Given the description of an element on the screen output the (x, y) to click on. 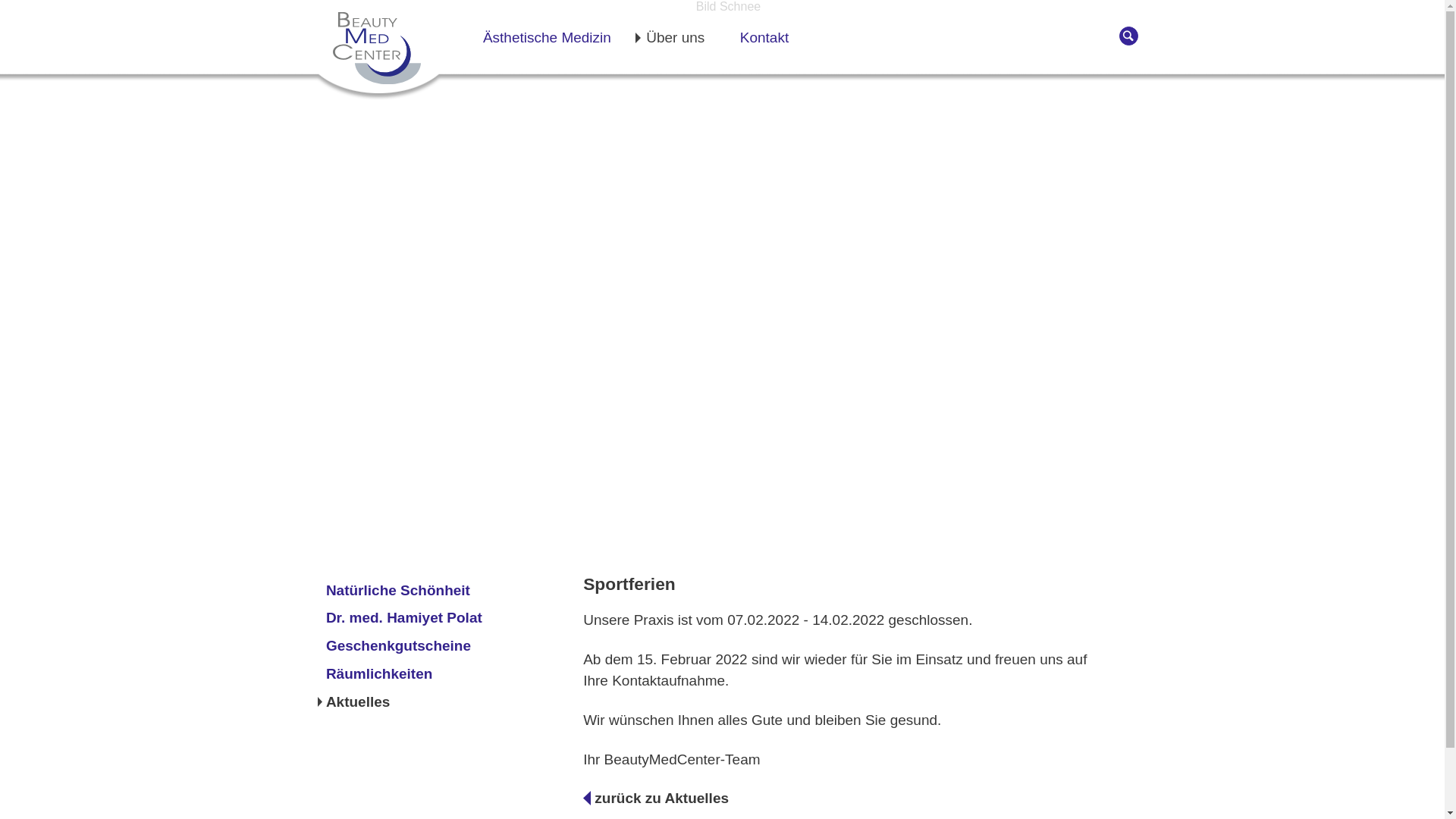
Dr. med. Hamiyet Polat Element type: text (449, 617)
Geschenkgutscheine Element type: text (449, 645)
a Element type: text (1127, 35)
Aktuelles Element type: text (449, 701)
Kontakt Element type: text (764, 37)
